Given the description of an element on the screen output the (x, y) to click on. 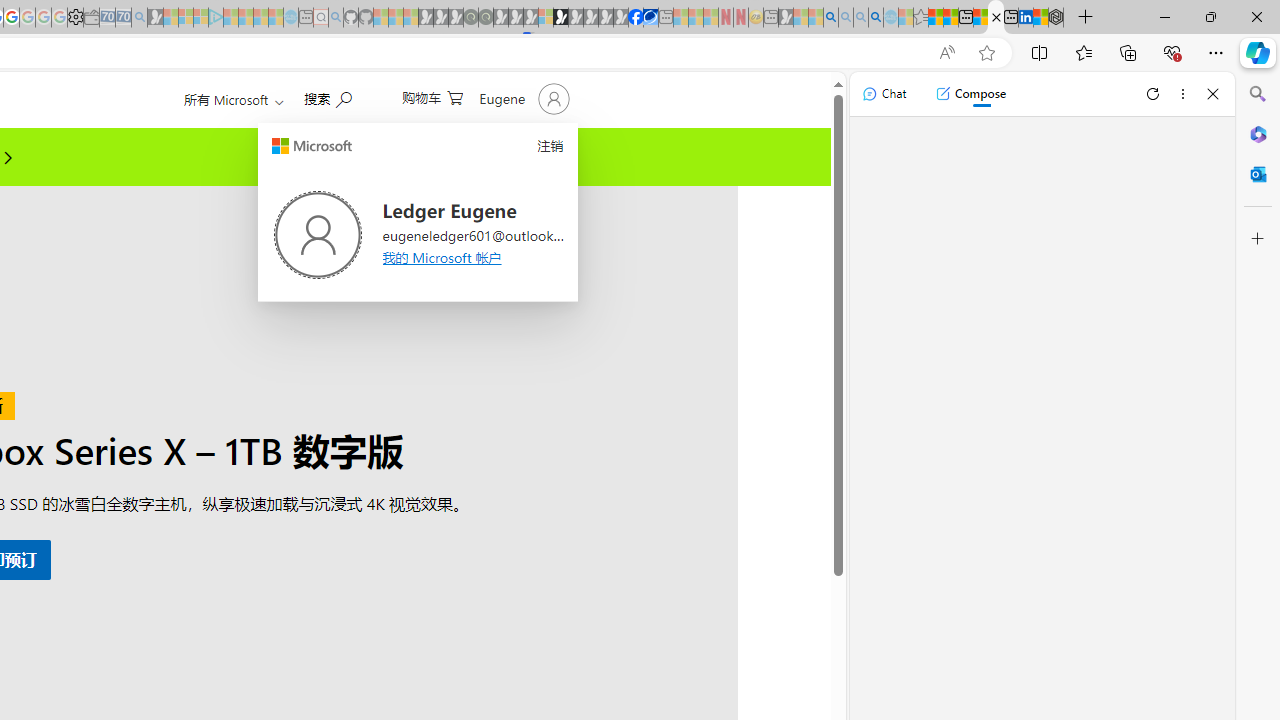
github - Search - Sleeping (336, 17)
Split screen (1039, 52)
Nordace | Facebook (635, 17)
Bing Real Estate - Home sales and rental listings - Sleeping (139, 17)
Refresh (1153, 93)
New tab (1010, 17)
Wallet - Sleeping (91, 17)
